Given the description of an element on the screen output the (x, y) to click on. 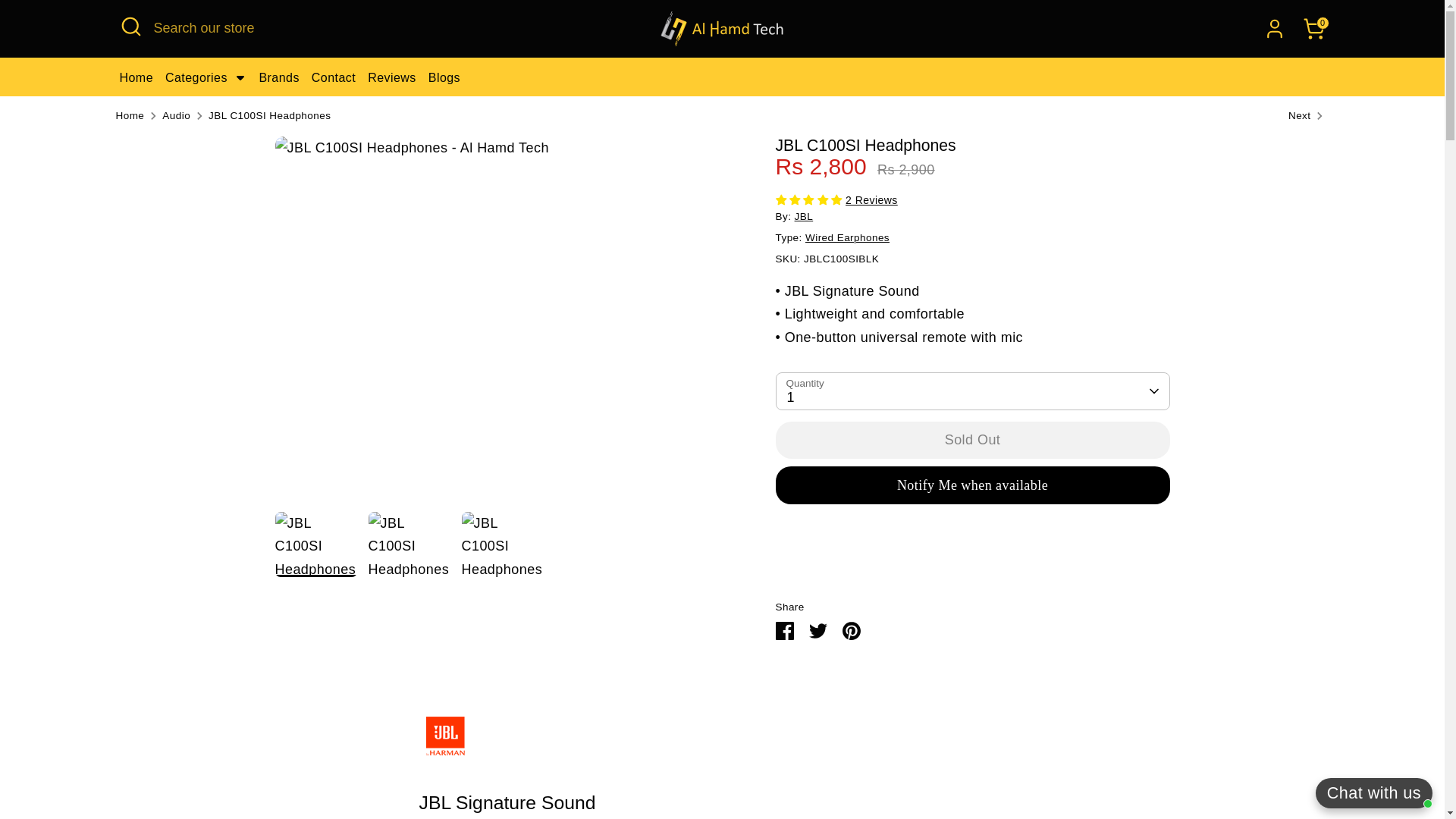
Home (135, 78)
Categories (205, 78)
Blue Yeti Premium Multi-Pattern USB Mic for Recording (1308, 116)
Blogs (444, 78)
0 (1312, 28)
Brands (278, 78)
Contact (333, 78)
Reviews (392, 78)
